Given the description of an element on the screen output the (x, y) to click on. 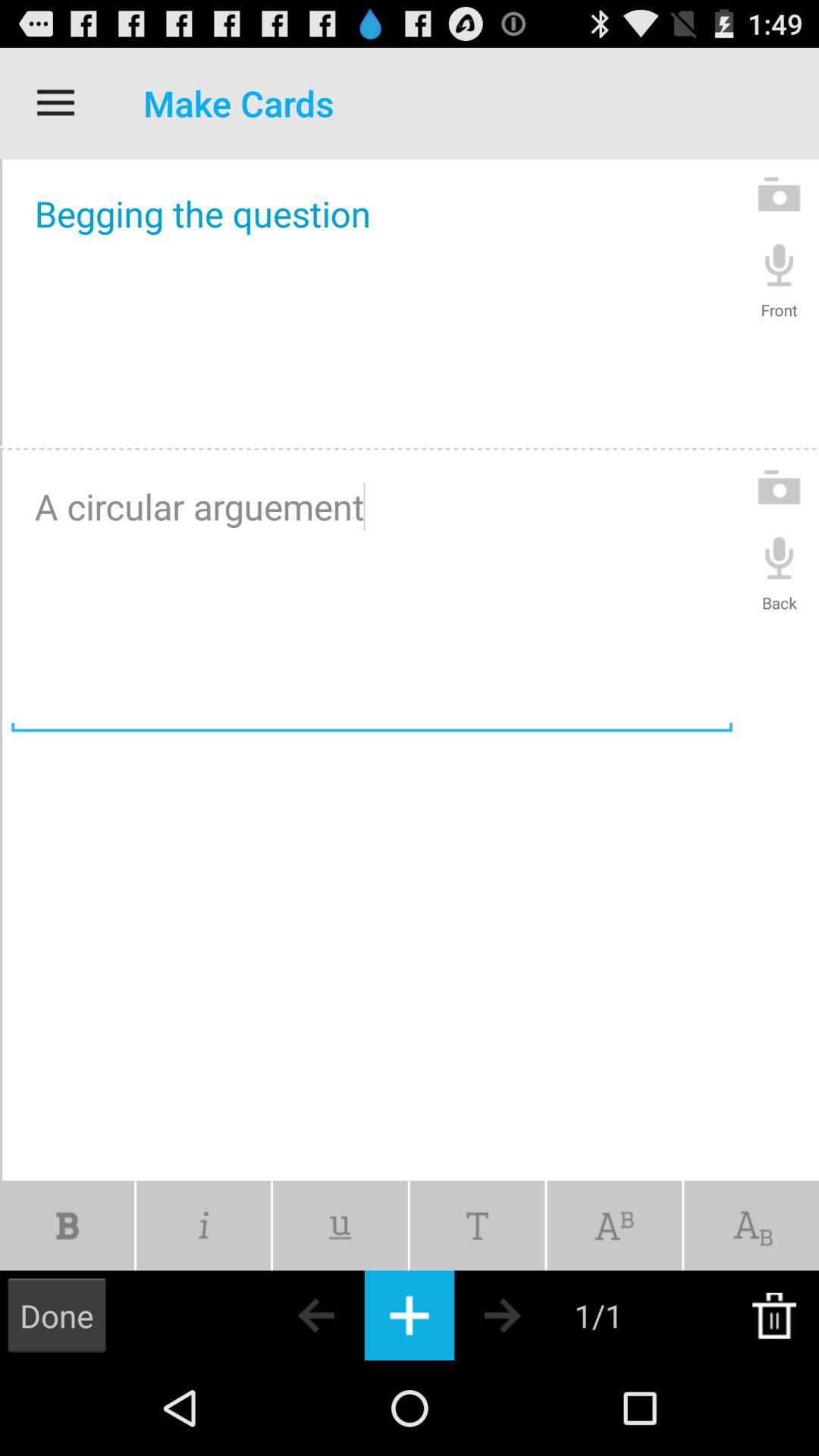
go forward (529, 1315)
